Given the description of an element on the screen output the (x, y) to click on. 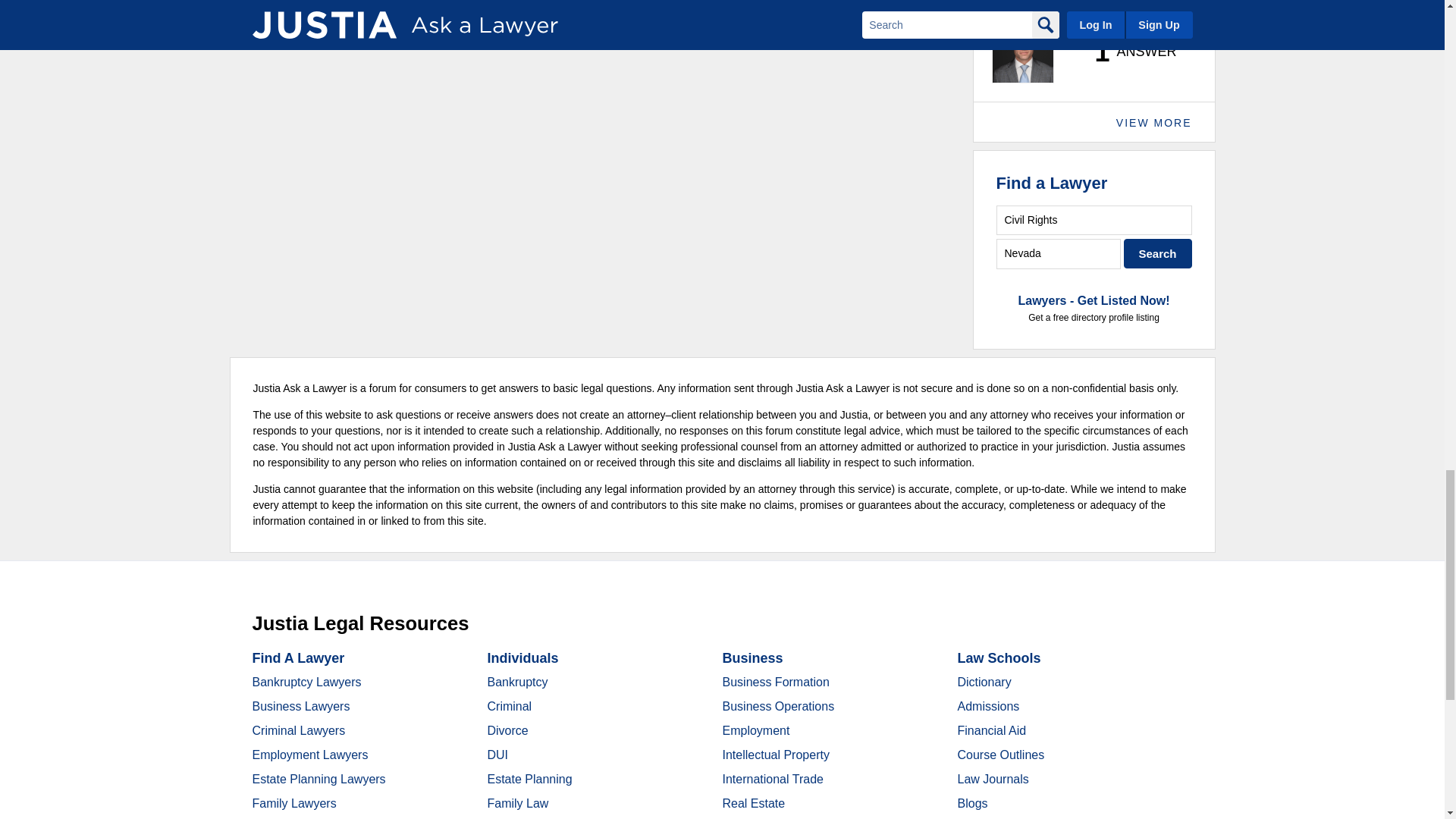
Search (1158, 253)
Legal Issue or Lawyer Name (1093, 220)
Nevada (1058, 253)
Search (1158, 253)
City, State (1058, 253)
Civil Rights (1093, 220)
Ask a Lawyer - Leaderboard - Lawyer Photo (1021, 52)
Ask a Lawyer - Leaderboard - Lawyer Name (1038, 7)
Ask a Lawyer - Leaderboard - Lawyer Stats (1127, 52)
